Given the description of an element on the screen output the (x, y) to click on. 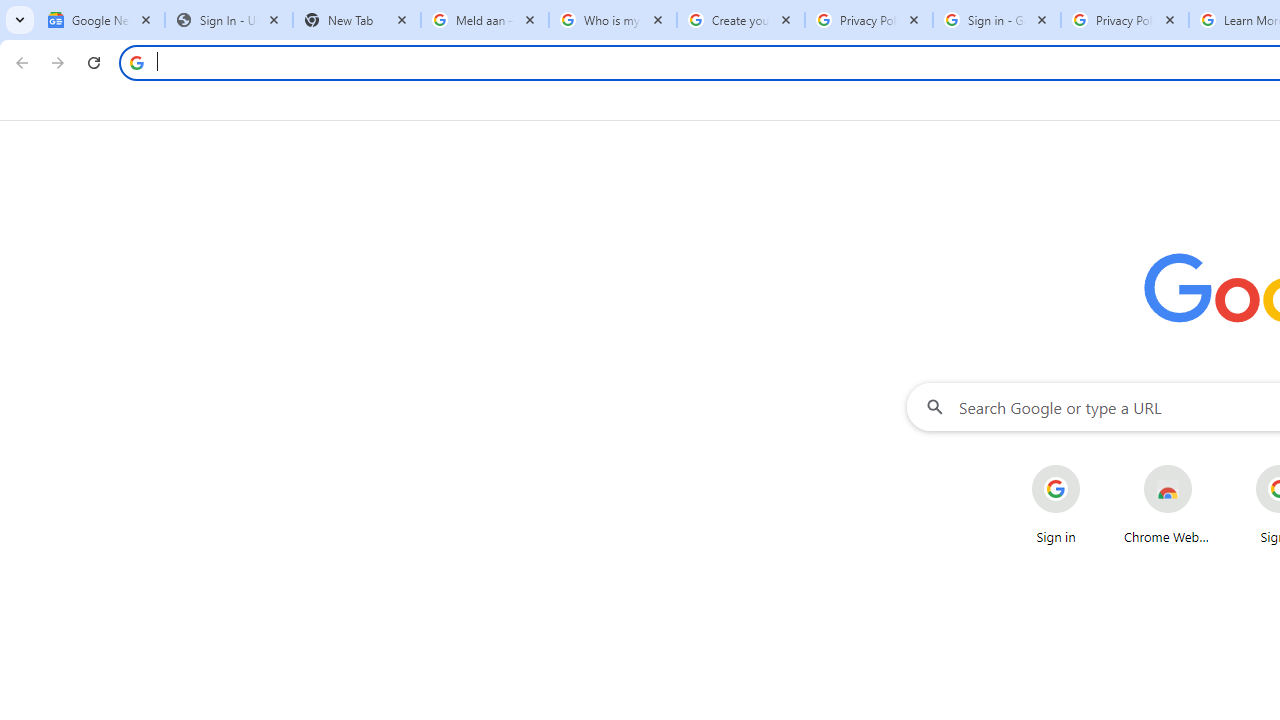
Sign in - Google Accounts (997, 20)
